Given the description of an element on the screen output the (x, y) to click on. 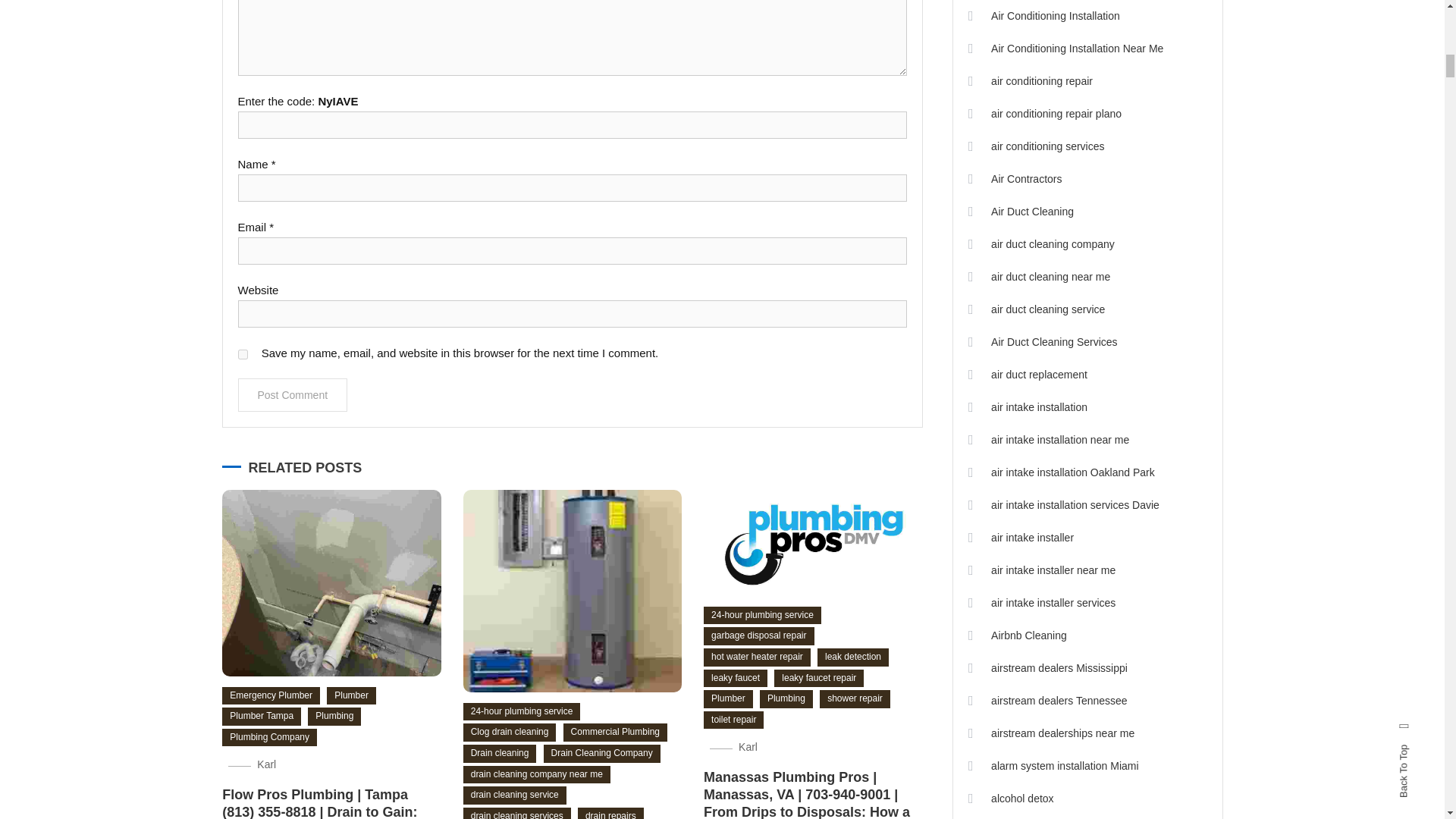
Post Comment (292, 394)
yes (242, 354)
